Given the description of an element on the screen output the (x, y) to click on. 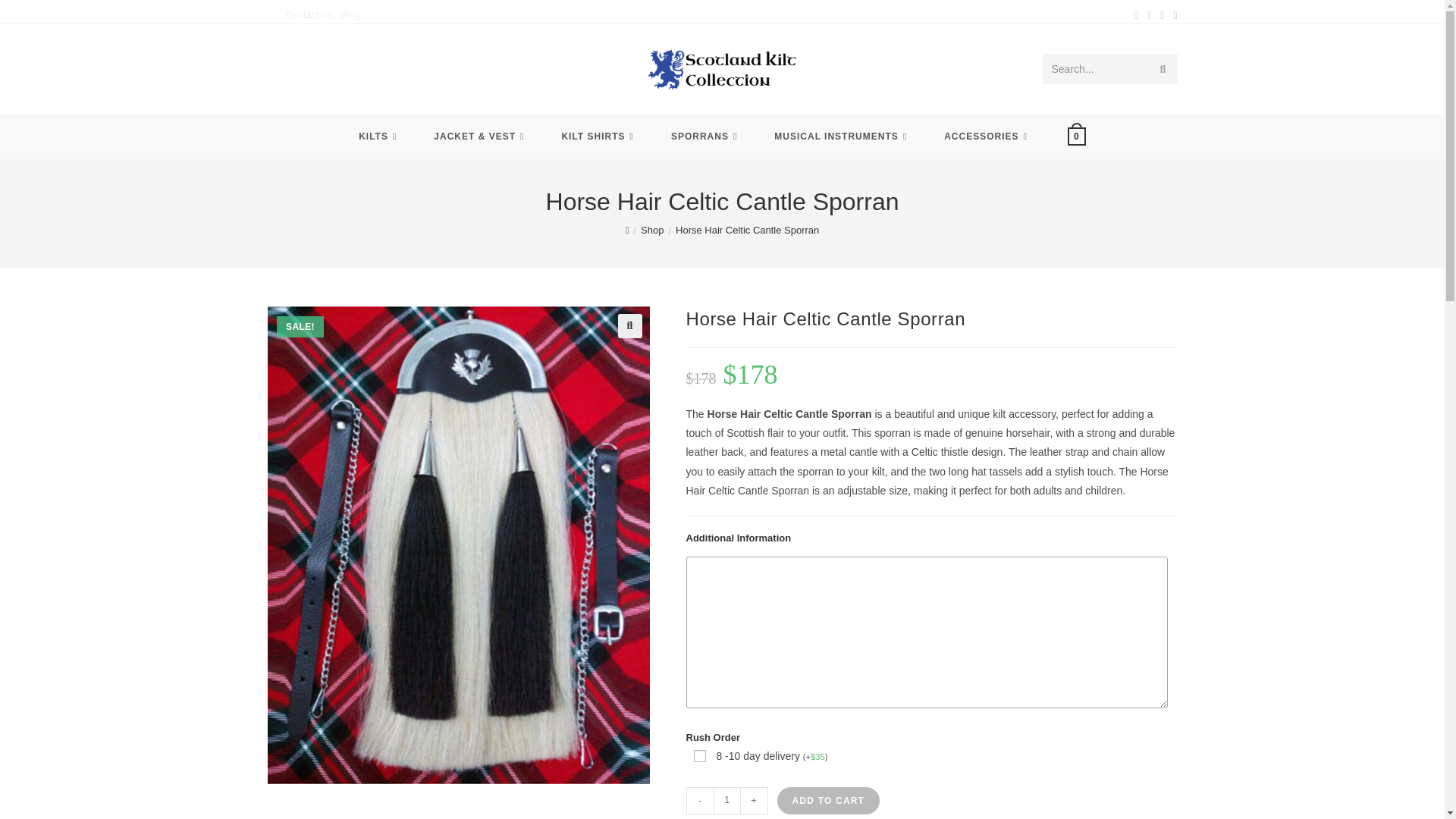
1 (726, 800)
SPORRANS (705, 135)
KILT SHIRTS (598, 135)
8 -10 day delivery  (698, 756)
KILTS (379, 135)
Contact us (308, 14)
Blog (349, 14)
